Given the description of an element on the screen output the (x, y) to click on. 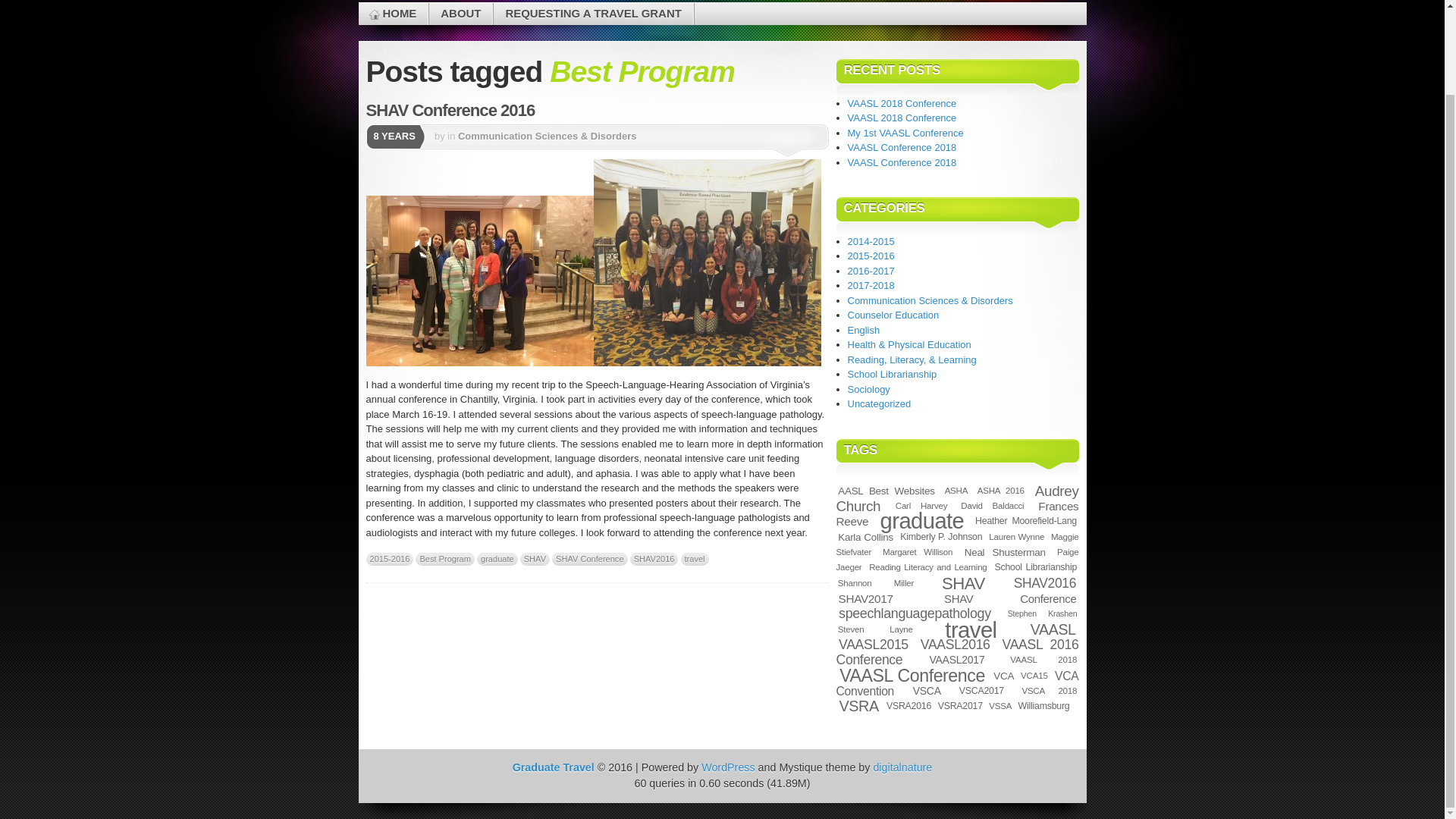
School Librarianship (892, 374)
Uncategorized (879, 403)
2015-2016 (389, 558)
SHAV (534, 558)
AASL Best Websites (885, 490)
2017-2018 (871, 285)
Frances Reeve (956, 513)
Carl Harvey (921, 505)
Best Program (444, 558)
SHAV Conference (589, 558)
